Given the description of an element on the screen output the (x, y) to click on. 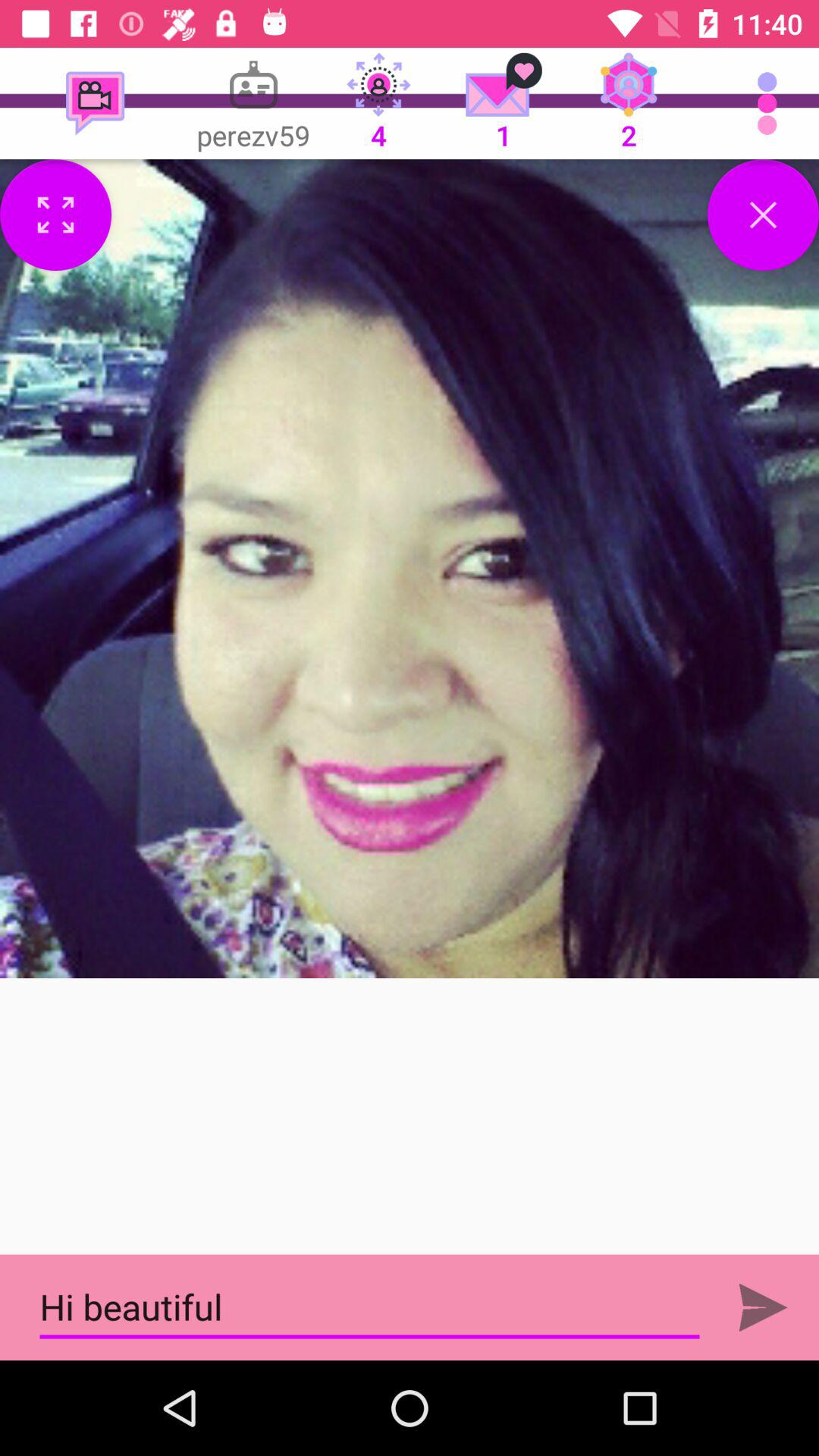
sends message (763, 1307)
